Given the description of an element on the screen output the (x, y) to click on. 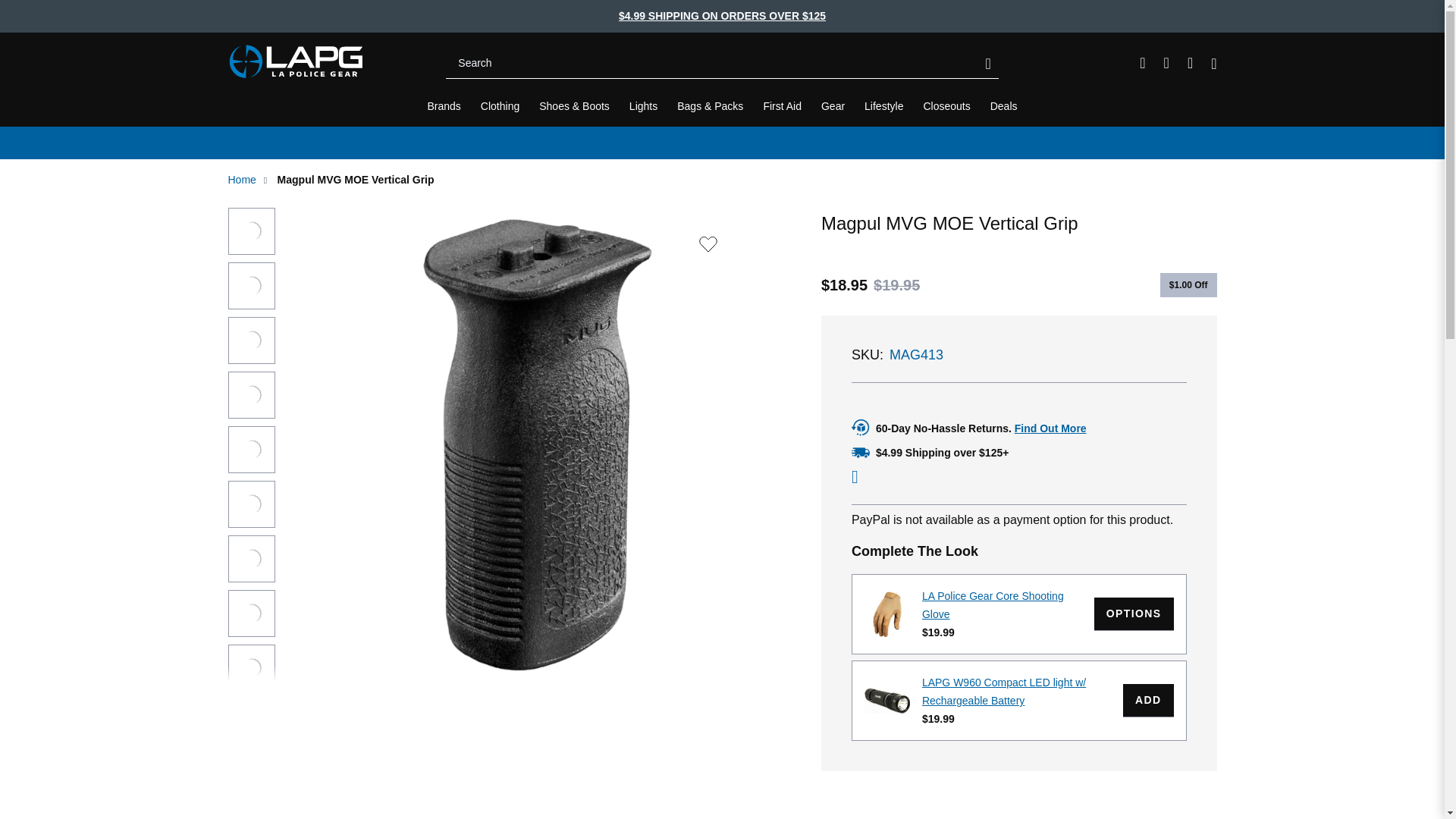
Add (1147, 700)
Brands (444, 106)
Options (1133, 613)
